Given the description of an element on the screen output the (x, y) to click on. 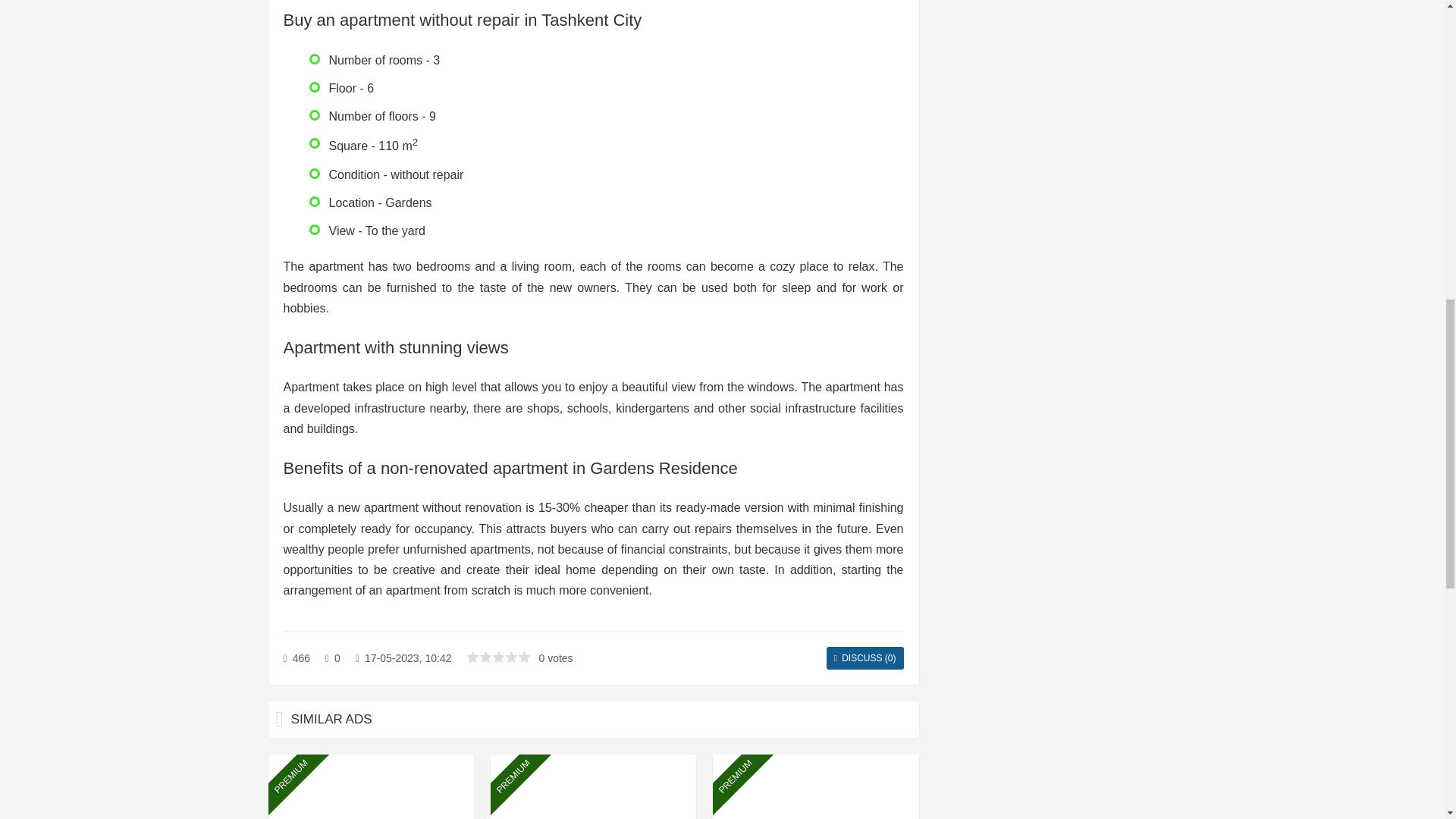
PREMIUM (815, 786)
5 (524, 656)
PREMIUM (370, 786)
4 (511, 656)
PREMIUM (592, 786)
3 (498, 656)
1 (472, 656)
2 (485, 656)
